Given the description of an element on the screen output the (x, y) to click on. 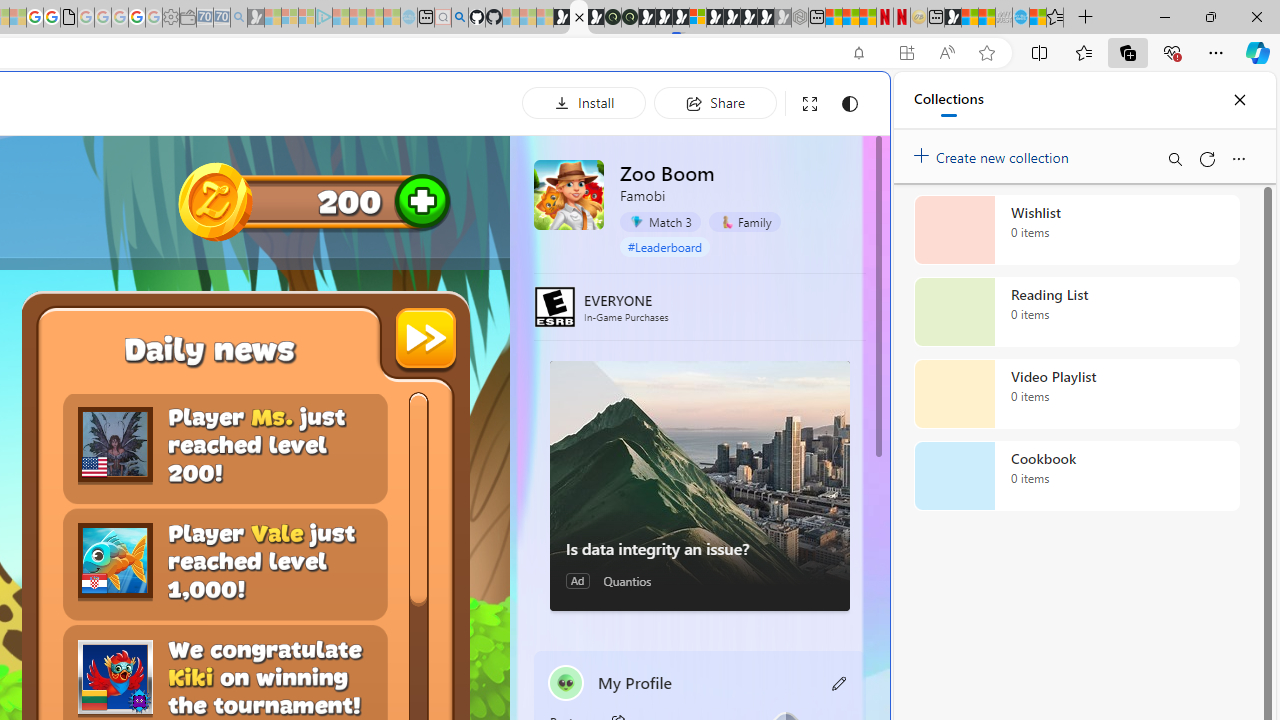
Change to dark mode (849, 103)
Match 3 (660, 221)
Search or enter web address (343, 191)
